Given the description of an element on the screen output the (x, y) to click on. 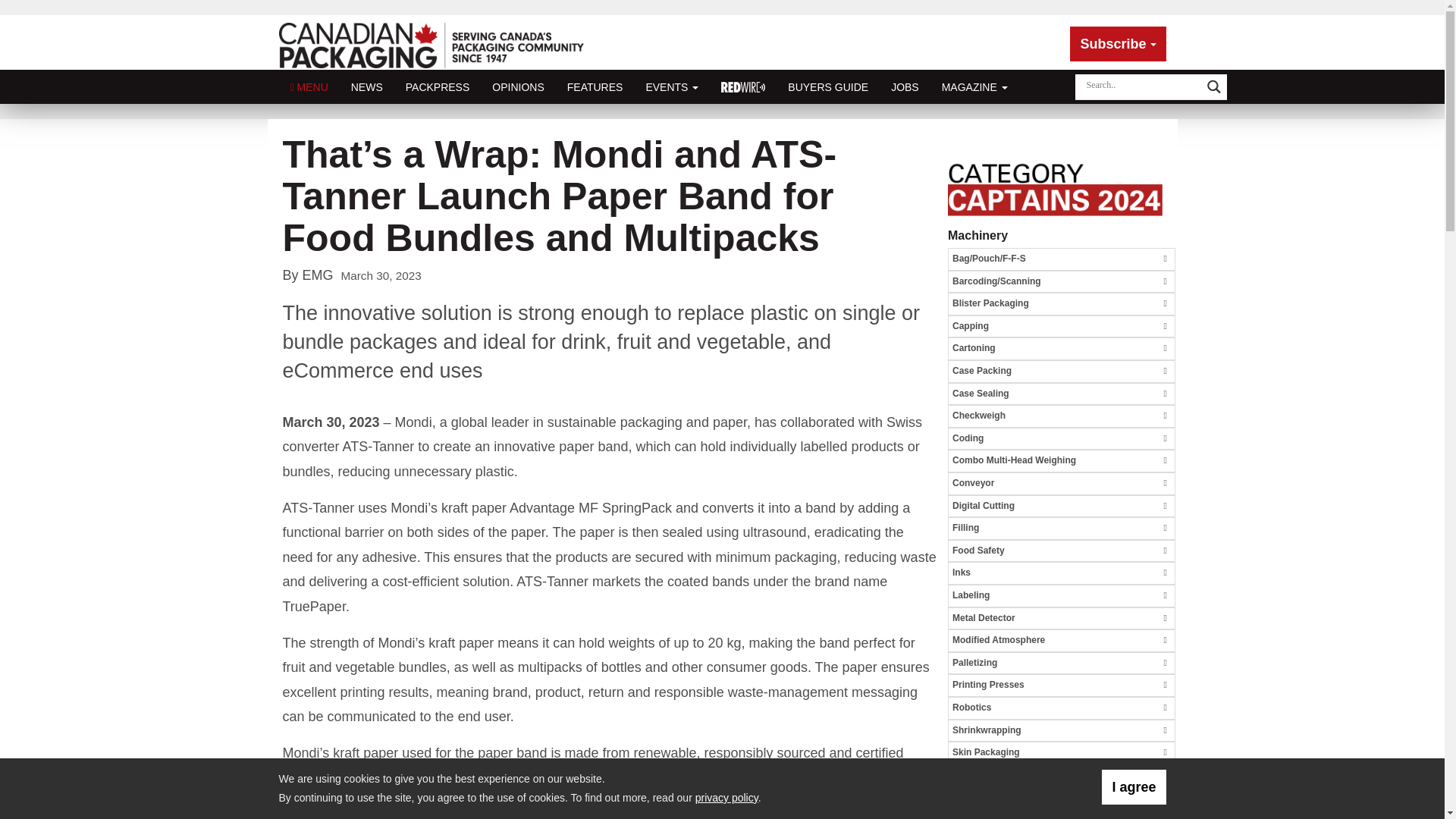
Canadian Packaging (432, 52)
BUYERS GUIDE (827, 86)
Subscribe (1118, 43)
Click to show site navigation (309, 86)
EVENTS (671, 86)
MAGAZINE (974, 86)
NEWS (366, 86)
FEATURES (595, 86)
OPINIONS (517, 86)
JOBS (904, 86)
MENU (309, 86)
PACKPRESS (437, 86)
